Given the description of an element on the screen output the (x, y) to click on. 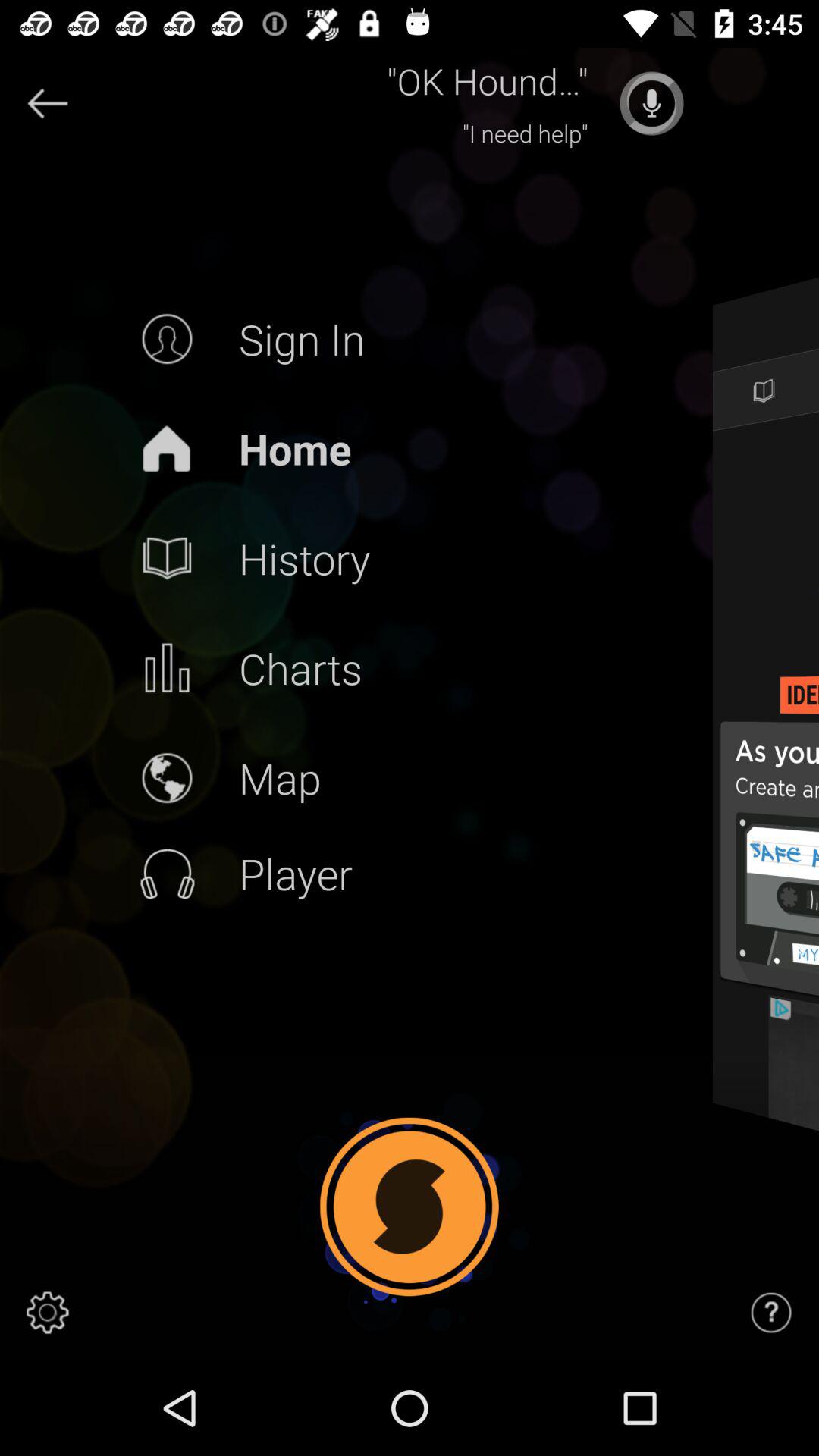
press to talk (651, 103)
